Given the description of an element on the screen output the (x, y) to click on. 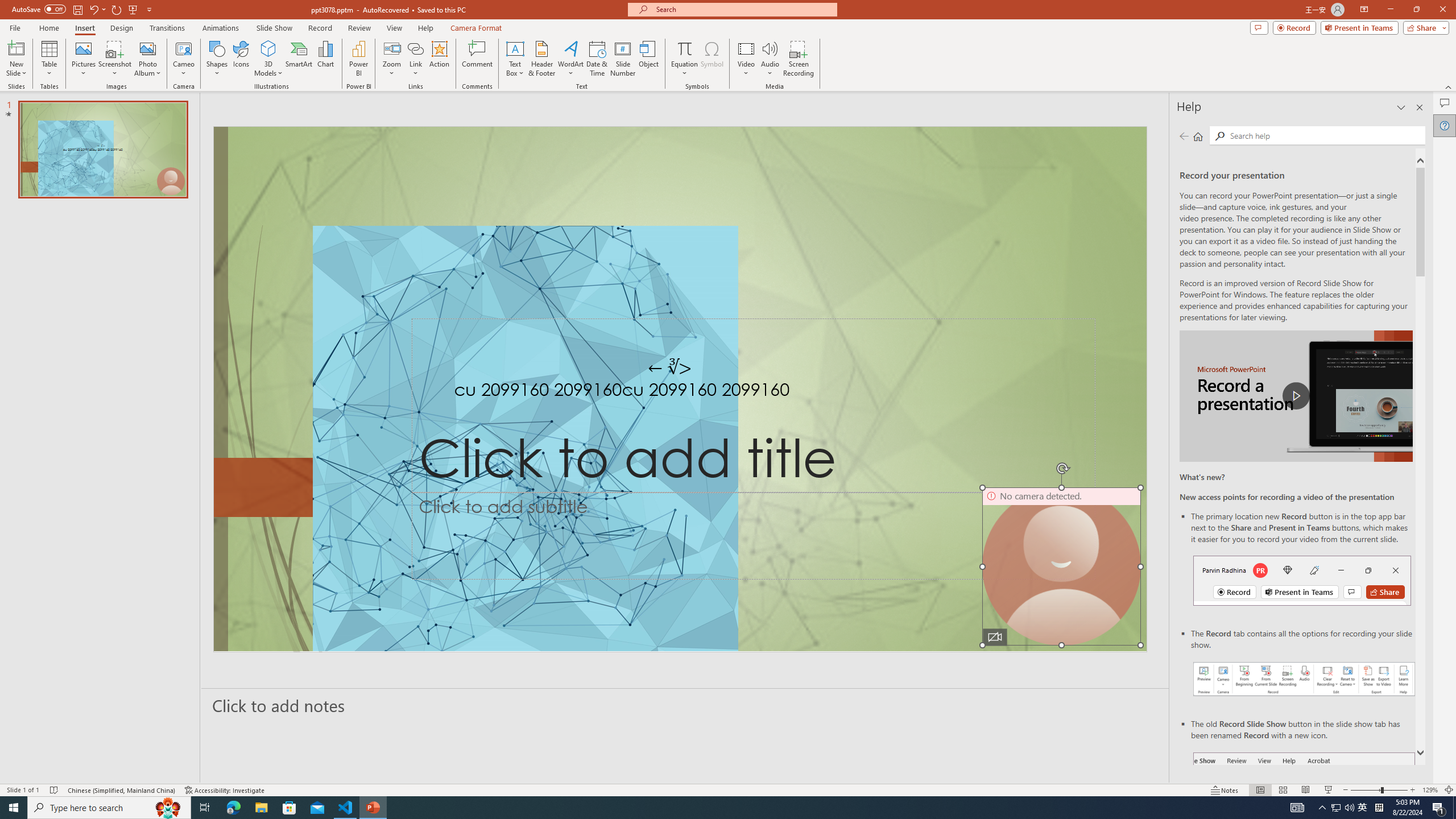
Action (439, 58)
Comment (476, 58)
